Given the description of an element on the screen output the (x, y) to click on. 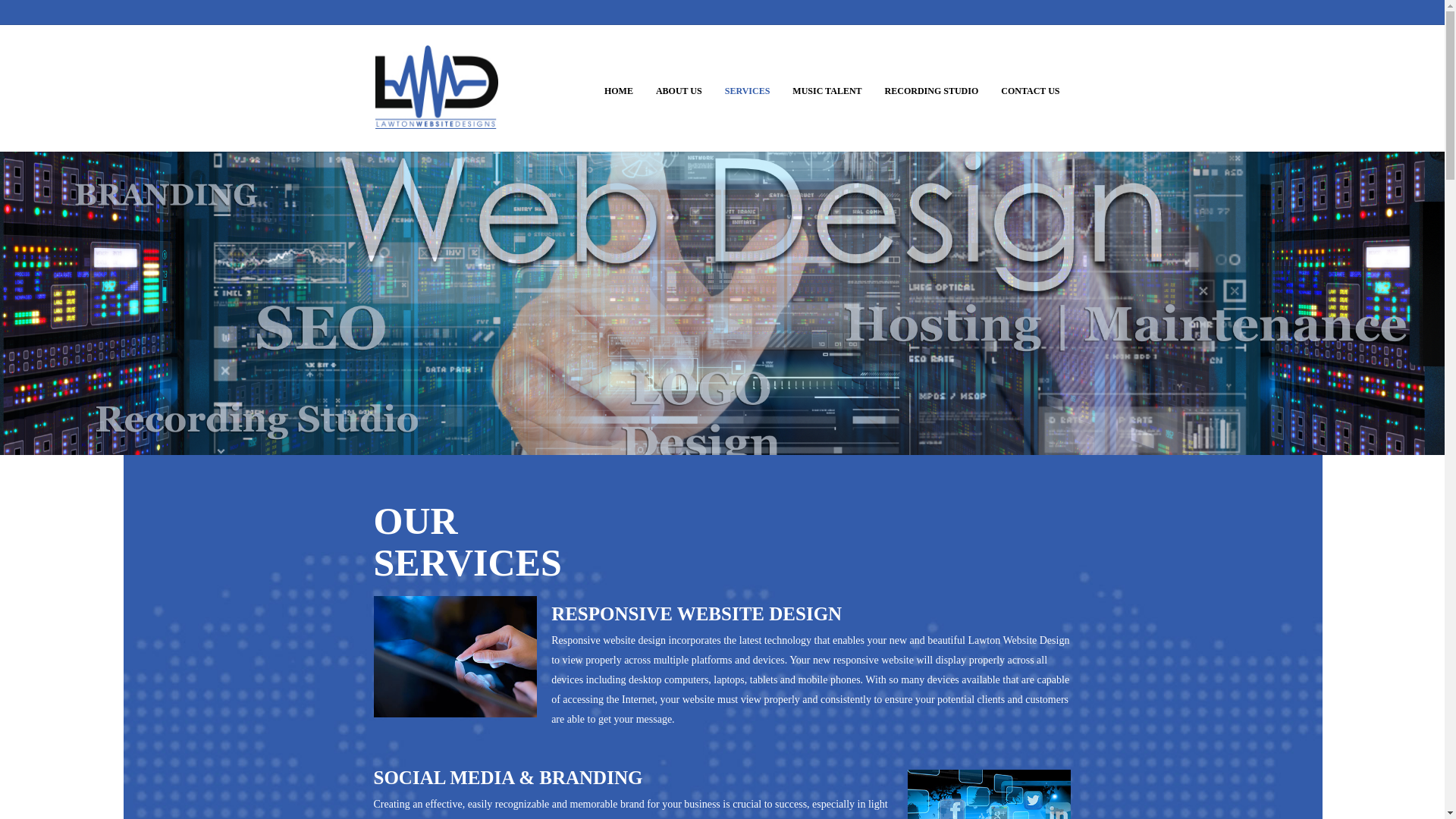
CONTACT US (1018, 82)
MUSIC TALENT (815, 82)
HOME (606, 82)
RECORDING STUDIO (919, 82)
ABOUT US (667, 82)
SERVICES (735, 82)
